Given the description of an element on the screen output the (x, y) to click on. 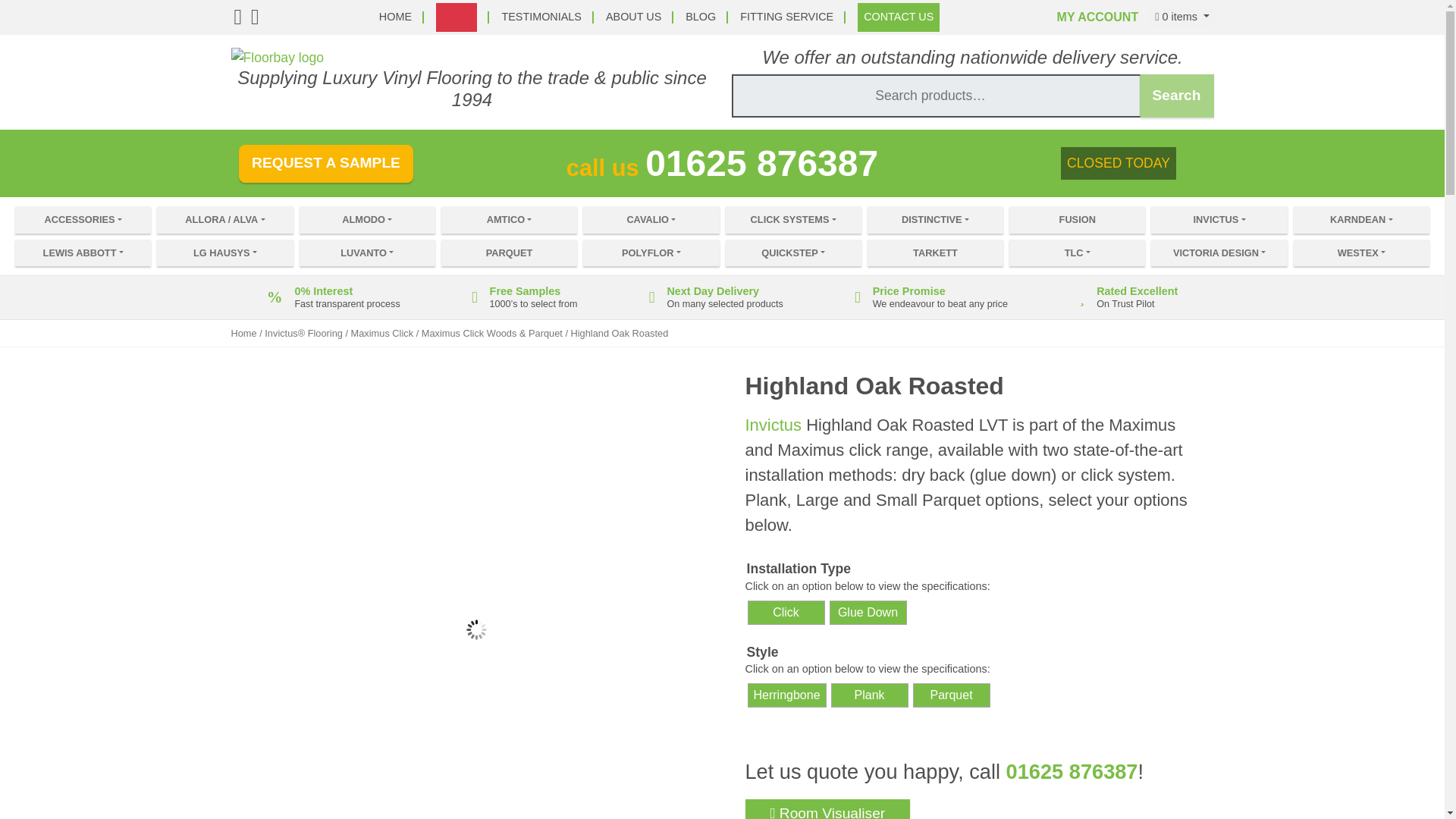
Blog (700, 17)
FITTING SERVICE (785, 17)
My Account (1097, 17)
Contact Us (898, 17)
Sale (456, 17)
Fitting Service (785, 17)
Testimonials (540, 17)
HOME (395, 17)
SALE (456, 17)
0 items (1181, 17)
